Given the description of an element on the screen output the (x, y) to click on. 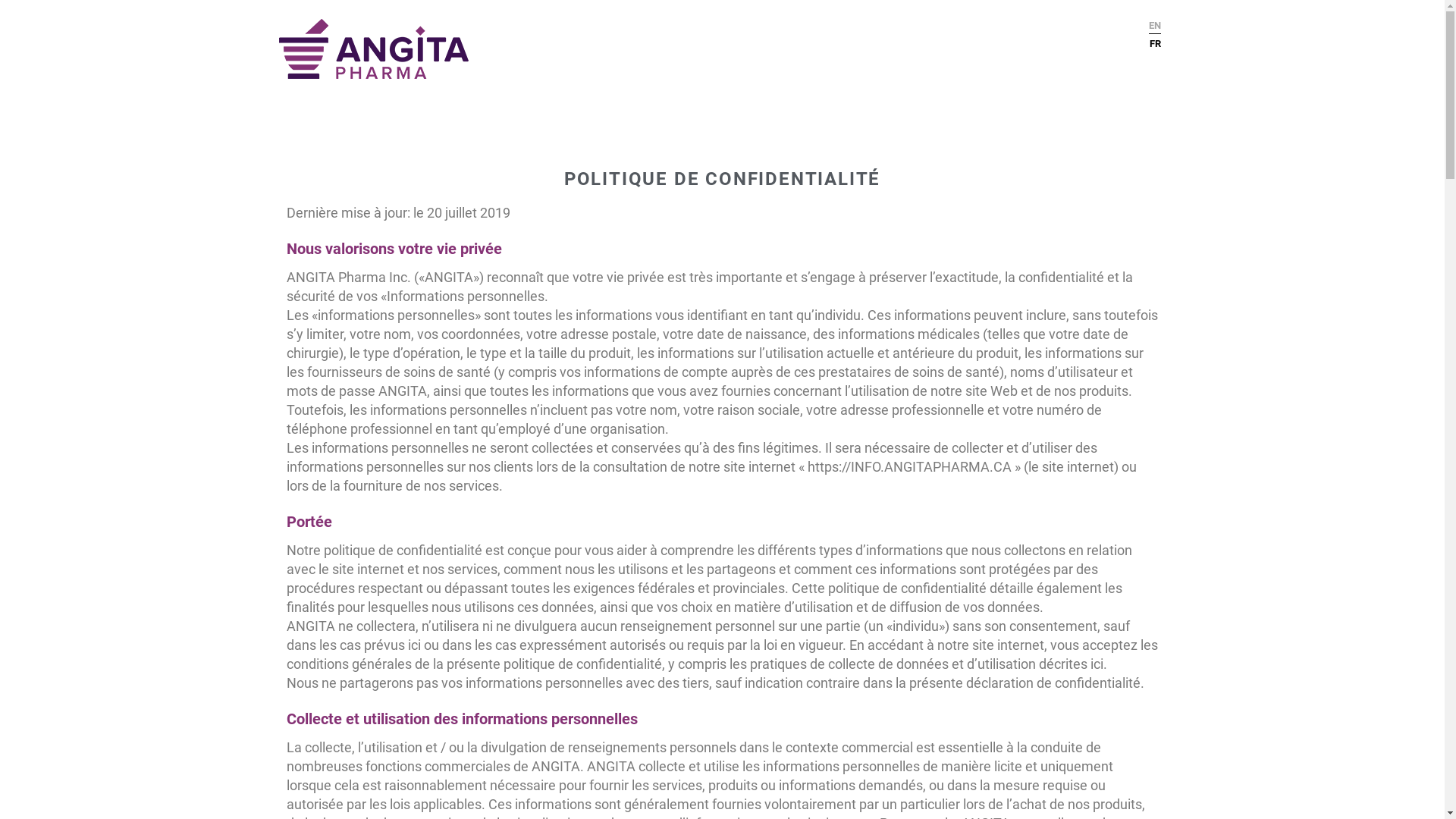
EN Element type: text (1154, 25)
FR Element type: text (1154, 40)
